Given the description of an element on the screen output the (x, y) to click on. 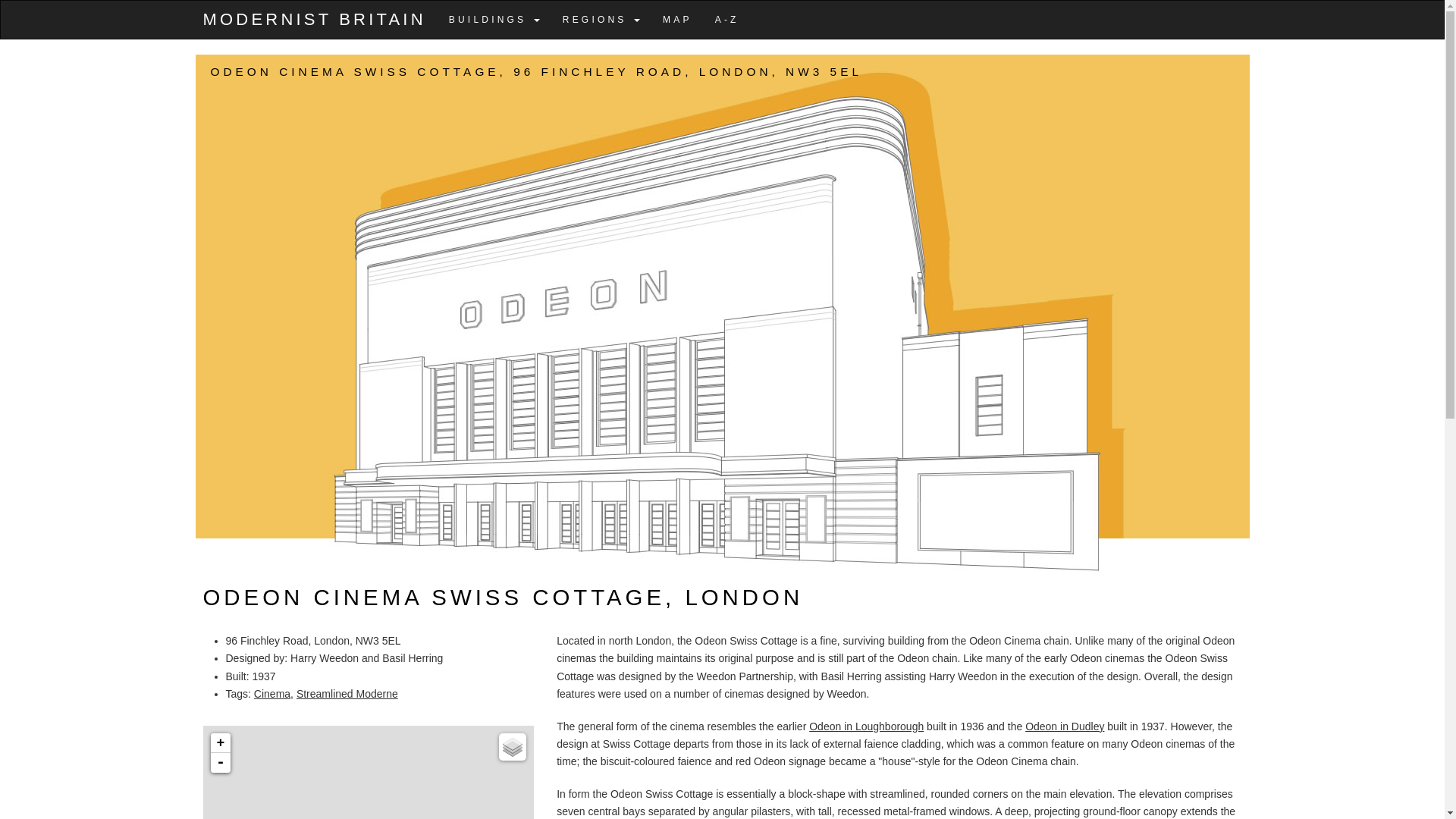
MODERNIST BRITAIN (313, 19)
BUILDINGS (494, 19)
Layers (512, 746)
Zoom out (220, 762)
Zoom in (220, 742)
